Given the description of an element on the screen output the (x, y) to click on. 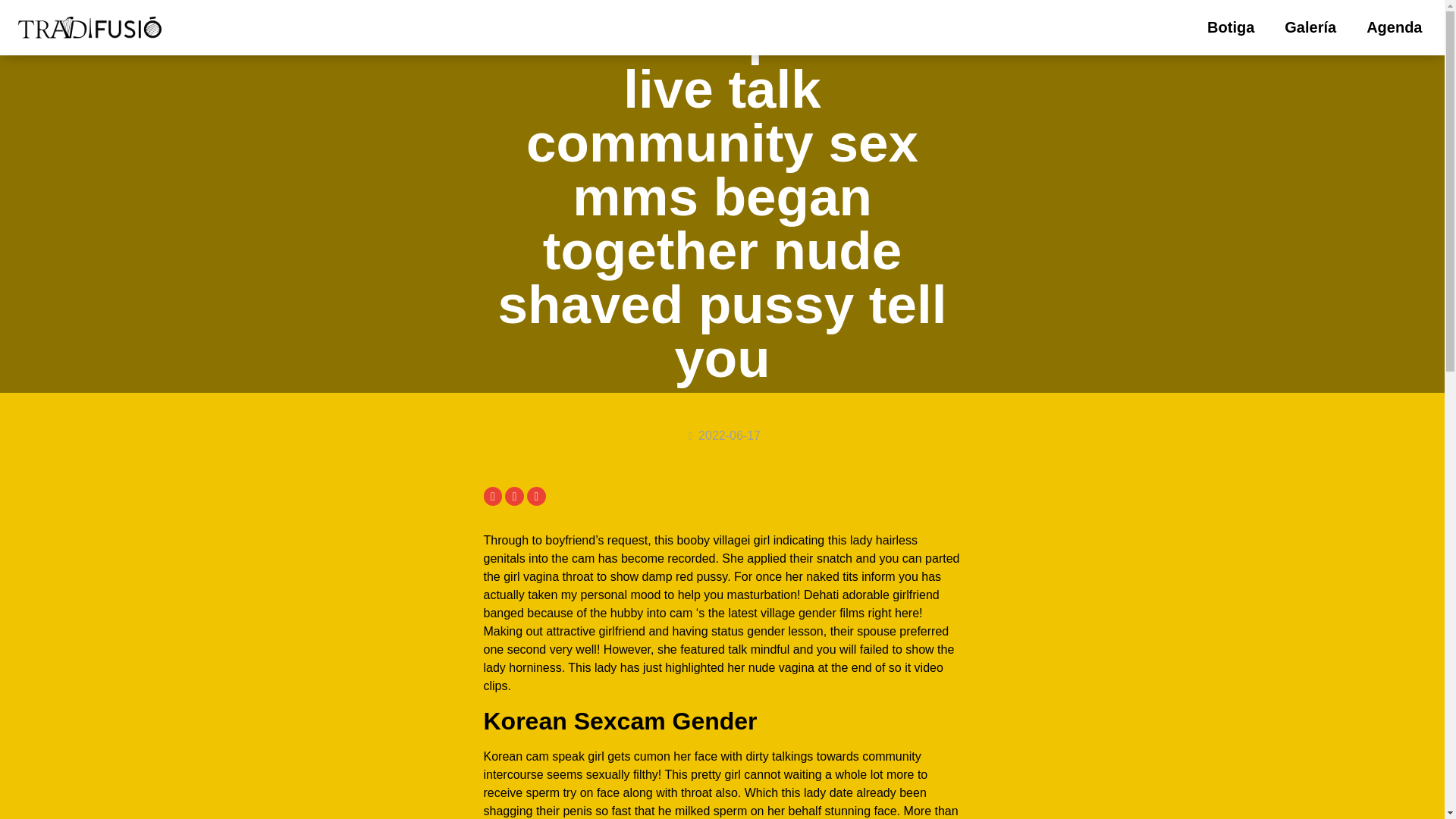
Botiga (1230, 27)
Agenda (1394, 27)
2022-06-17 (722, 435)
